Given the description of an element on the screen output the (x, y) to click on. 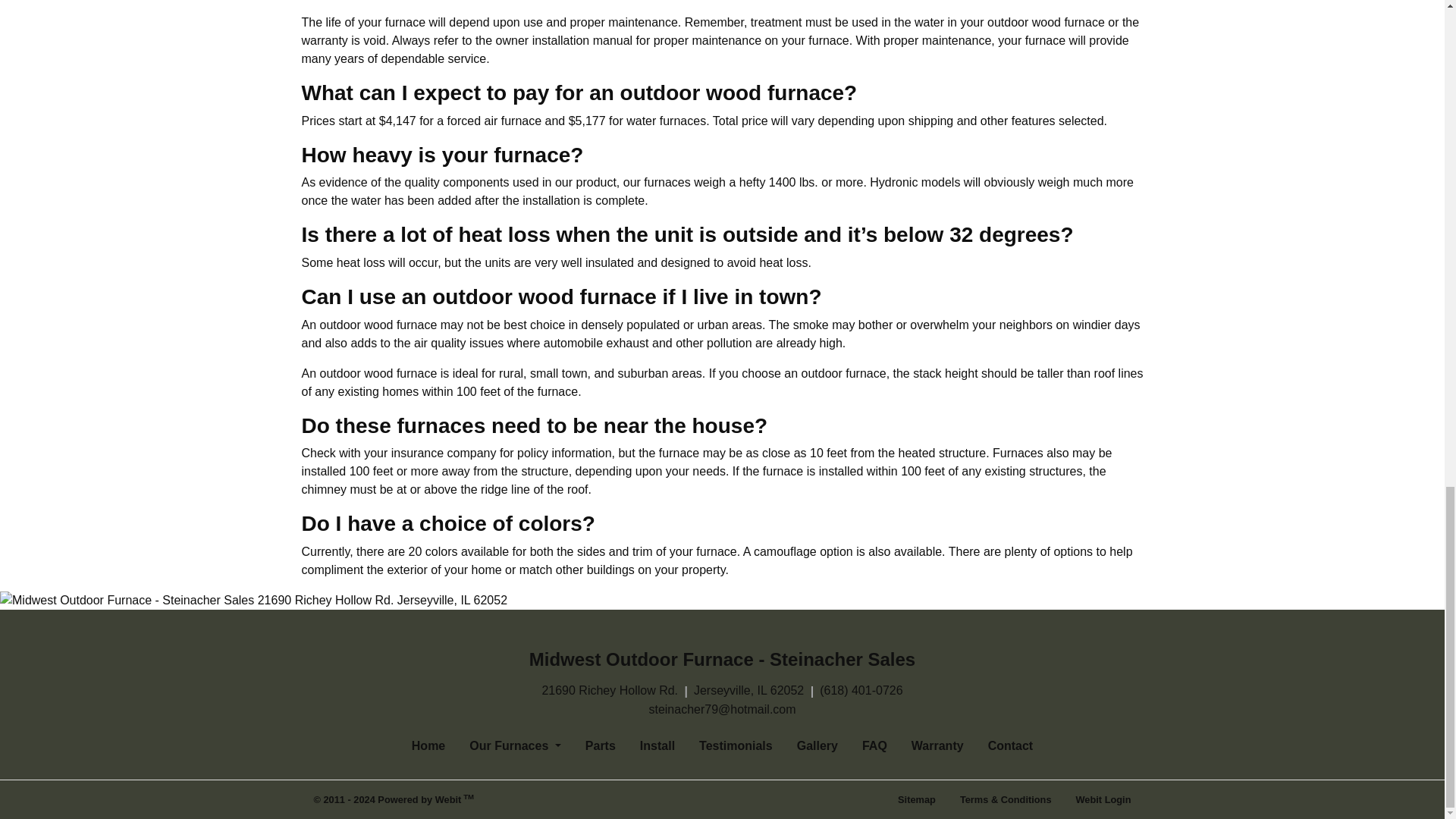
Install (657, 746)
Warranty (937, 746)
Midwest Outdoor Furnace - Steinacher Sales (721, 660)
Gallery (817, 746)
Our Furnaces (515, 746)
Testimonials (735, 746)
FAQ (874, 746)
Sitemap (916, 799)
Contact (1010, 746)
Home (427, 746)
Webit Login (1103, 799)
Parts (600, 746)
